Given the description of an element on the screen output the (x, y) to click on. 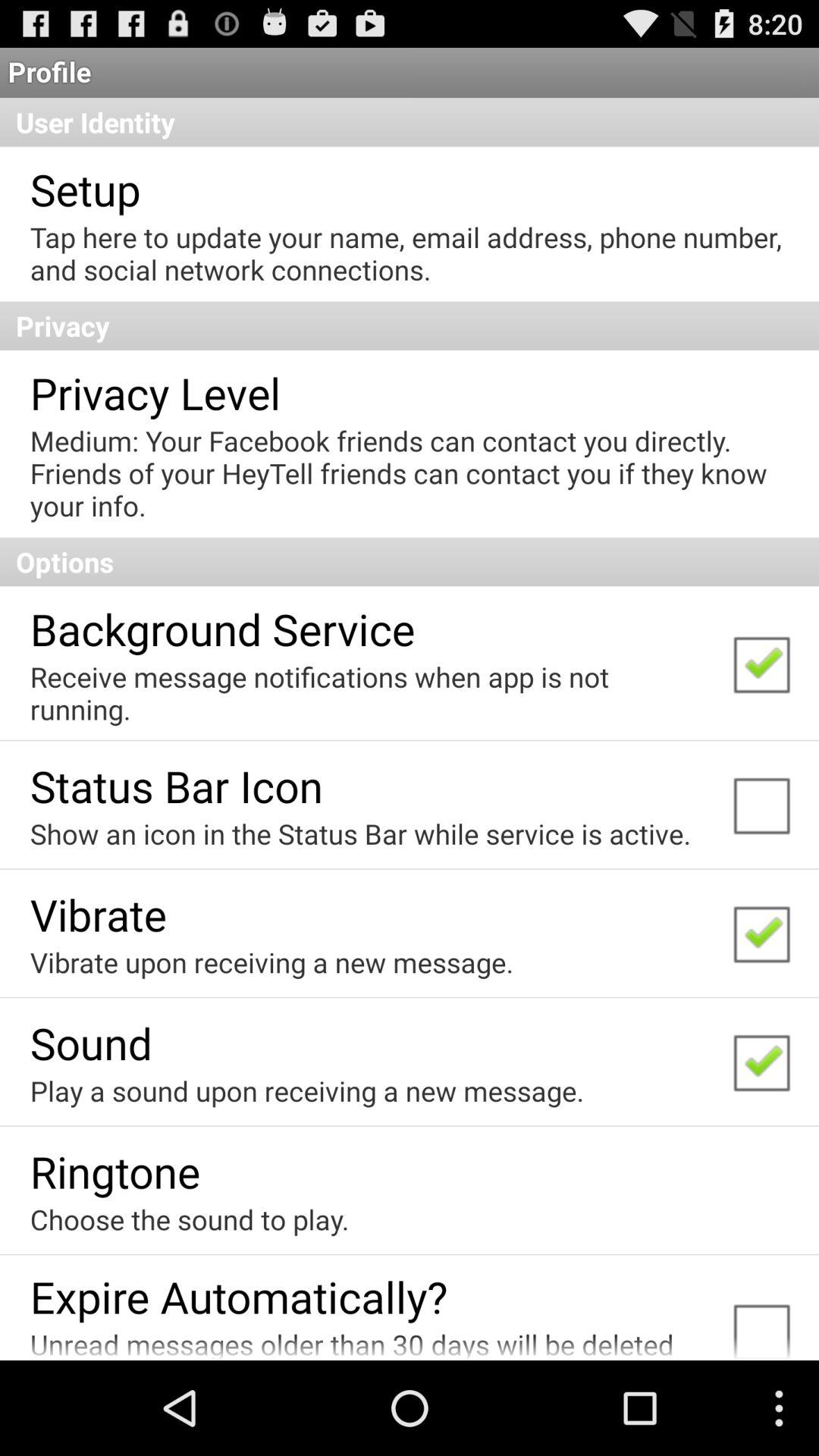
select the check box which is to the immediate right of vibrate (761, 933)
